Given the description of an element on the screen output the (x, y) to click on. 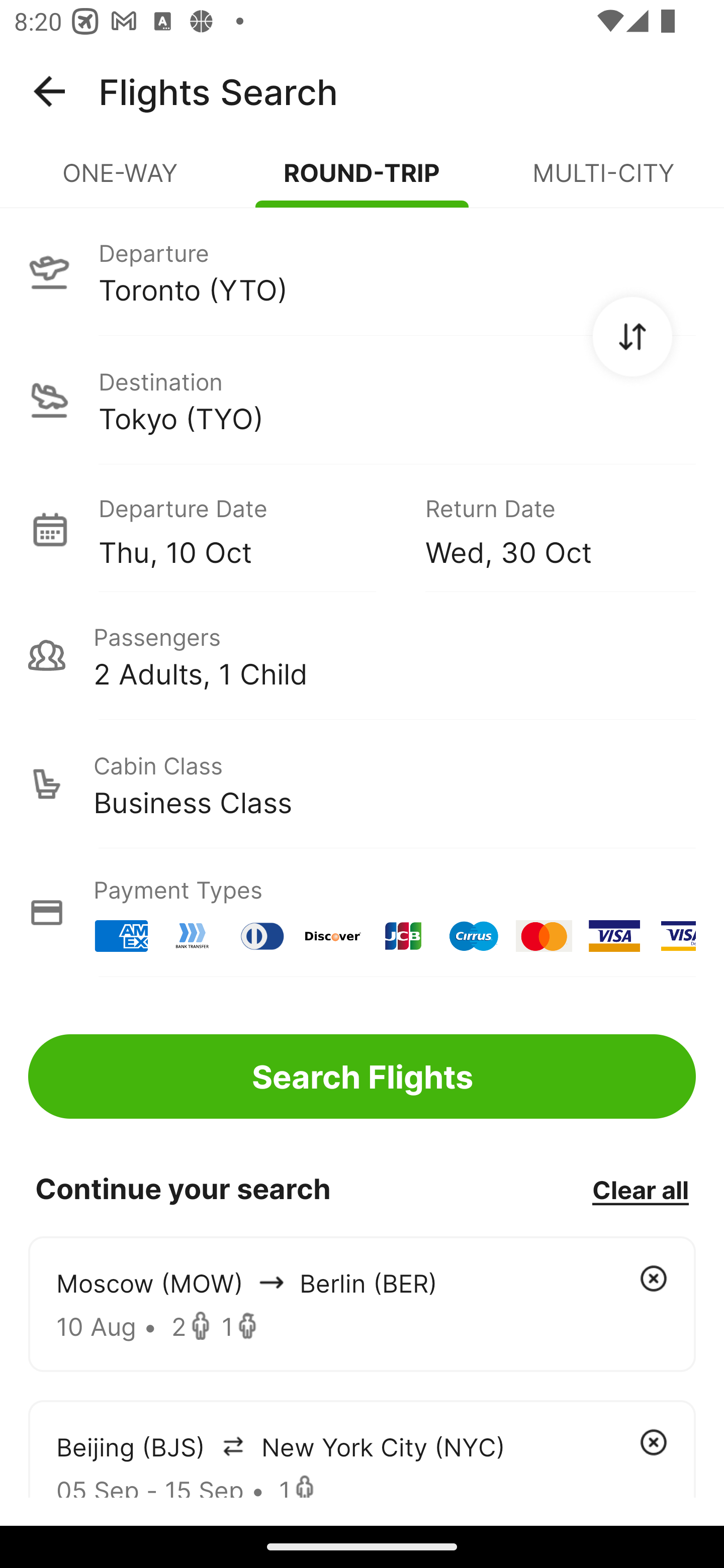
ONE-WAY (120, 180)
ROUND-TRIP (361, 180)
MULTI-CITY (603, 180)
Departure Toronto (YTO) (362, 270)
Destination Tokyo (TYO) (362, 400)
Departure Date Thu, 10 Oct (247, 528)
Return Date Wed, 30 Oct (546, 528)
Passengers 2 Adults, 1 Child (362, 655)
Cabin Class Business Class (362, 783)
Payment Types (362, 912)
Search Flights (361, 1075)
Clear all (640, 1189)
